Given the description of an element on the screen output the (x, y) to click on. 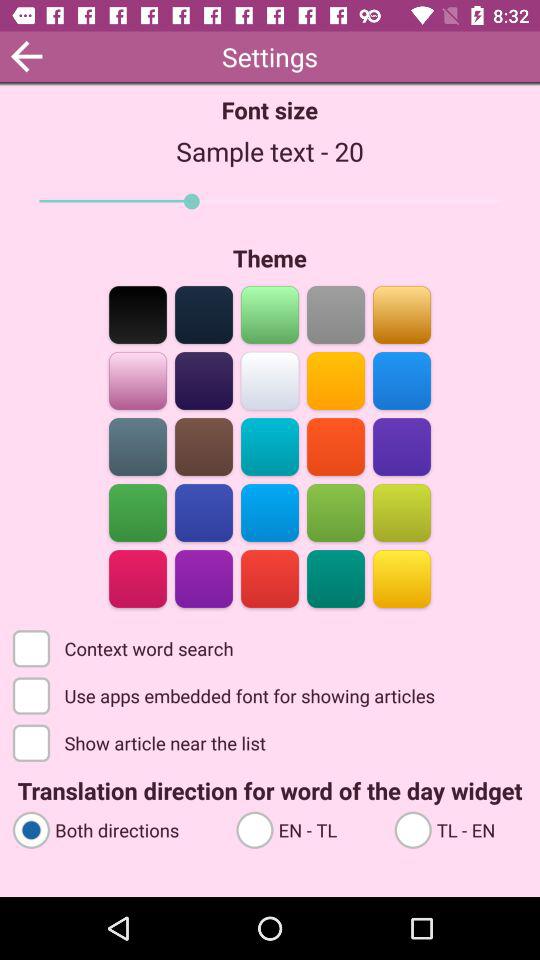
purple (203, 379)
